Given the description of an element on the screen output the (x, y) to click on. 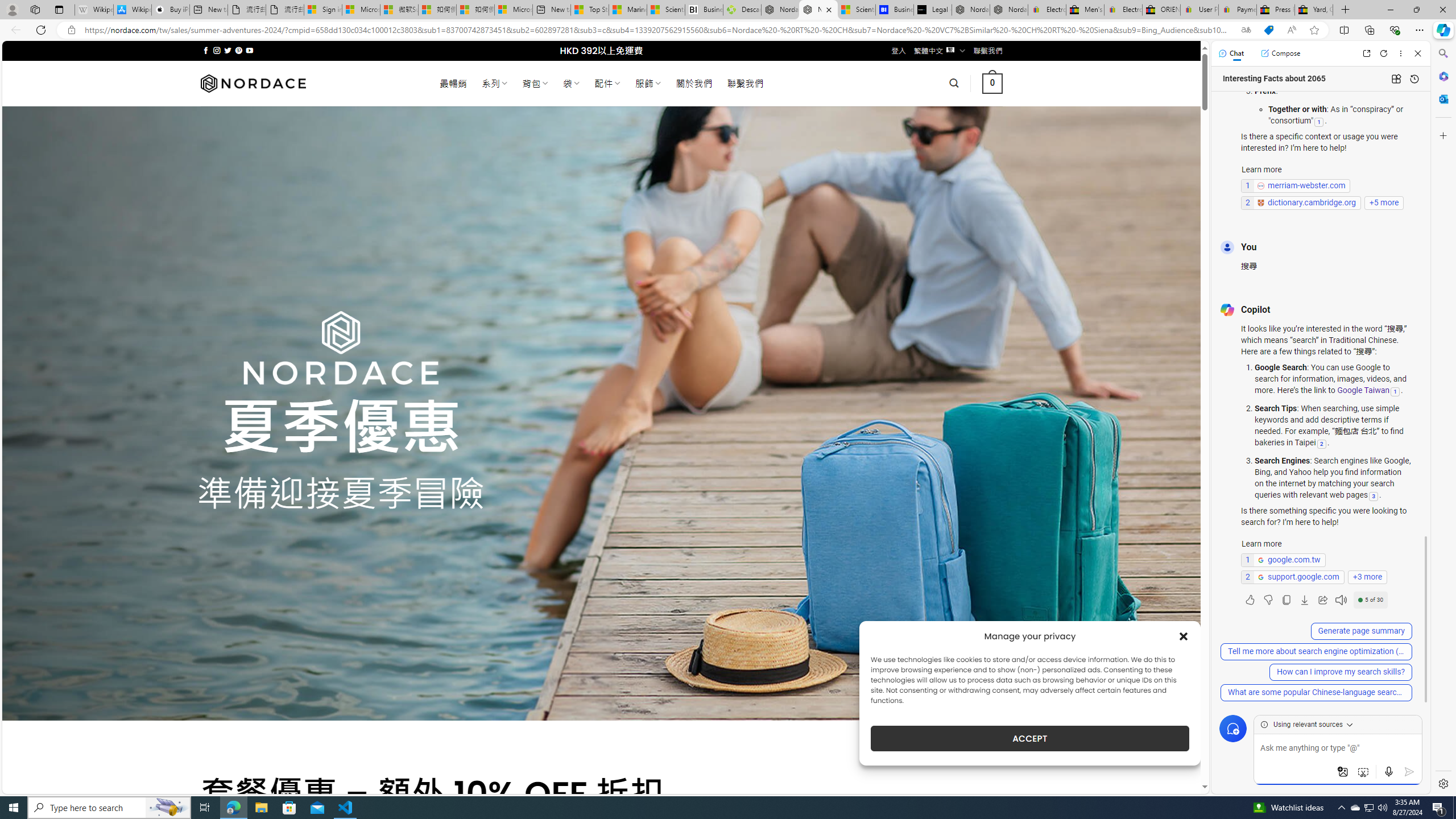
Follow on YouTube (249, 50)
Class: cmplz-close (1183, 636)
Follow on Pinterest (237, 50)
 0  (992, 83)
